Given the description of an element on the screen output the (x, y) to click on. 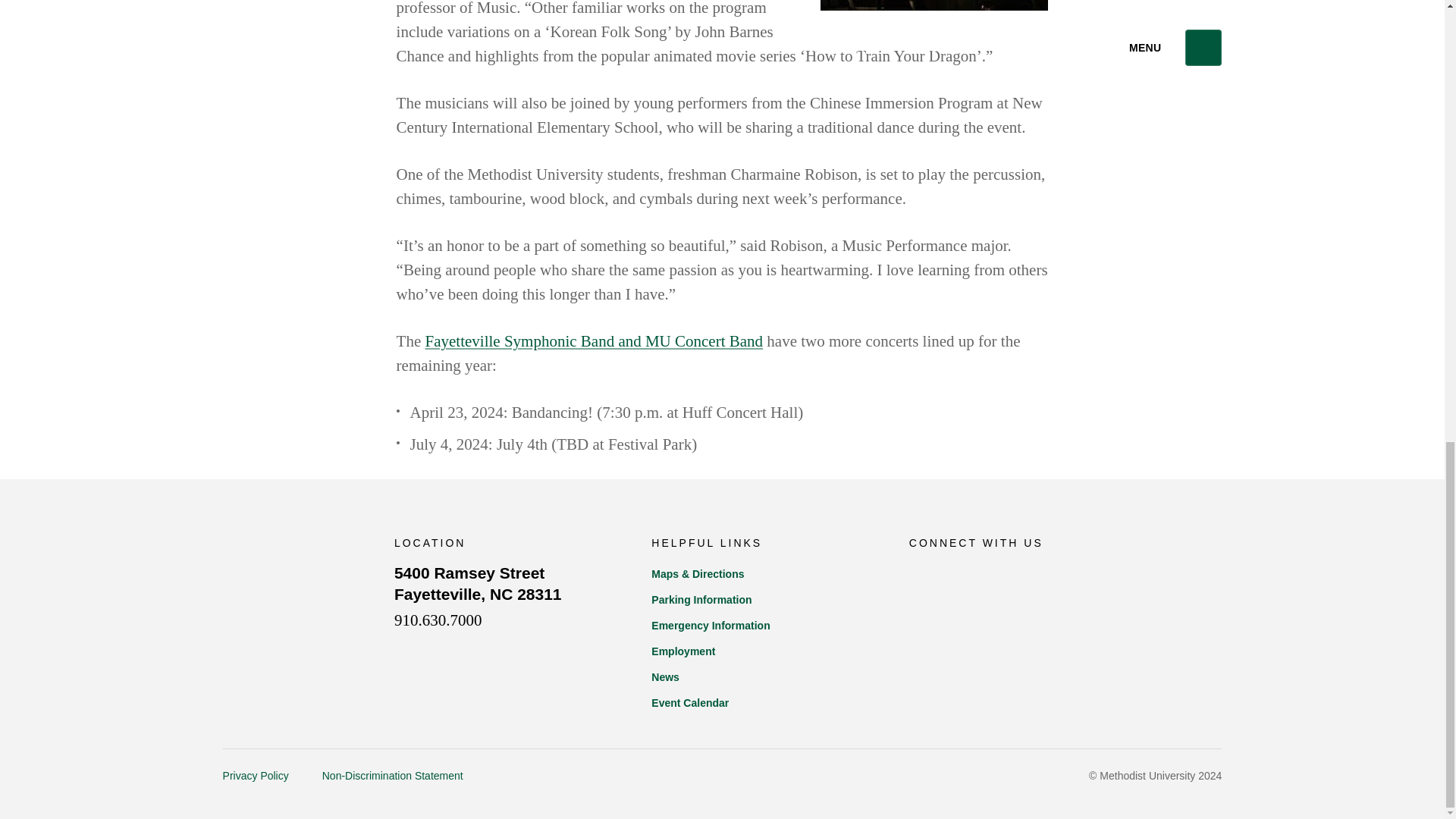
Methodist University (293, 594)
Fayetteville Symphonic Band and MU Concert Band (593, 341)
910.630.7000 (437, 620)
Employment (478, 583)
News (763, 652)
Facebook (763, 678)
Twitter (920, 574)
Parking Information (960, 575)
Event Calendar (763, 600)
Emergency Information (763, 703)
